Given the description of an element on the screen output the (x, y) to click on. 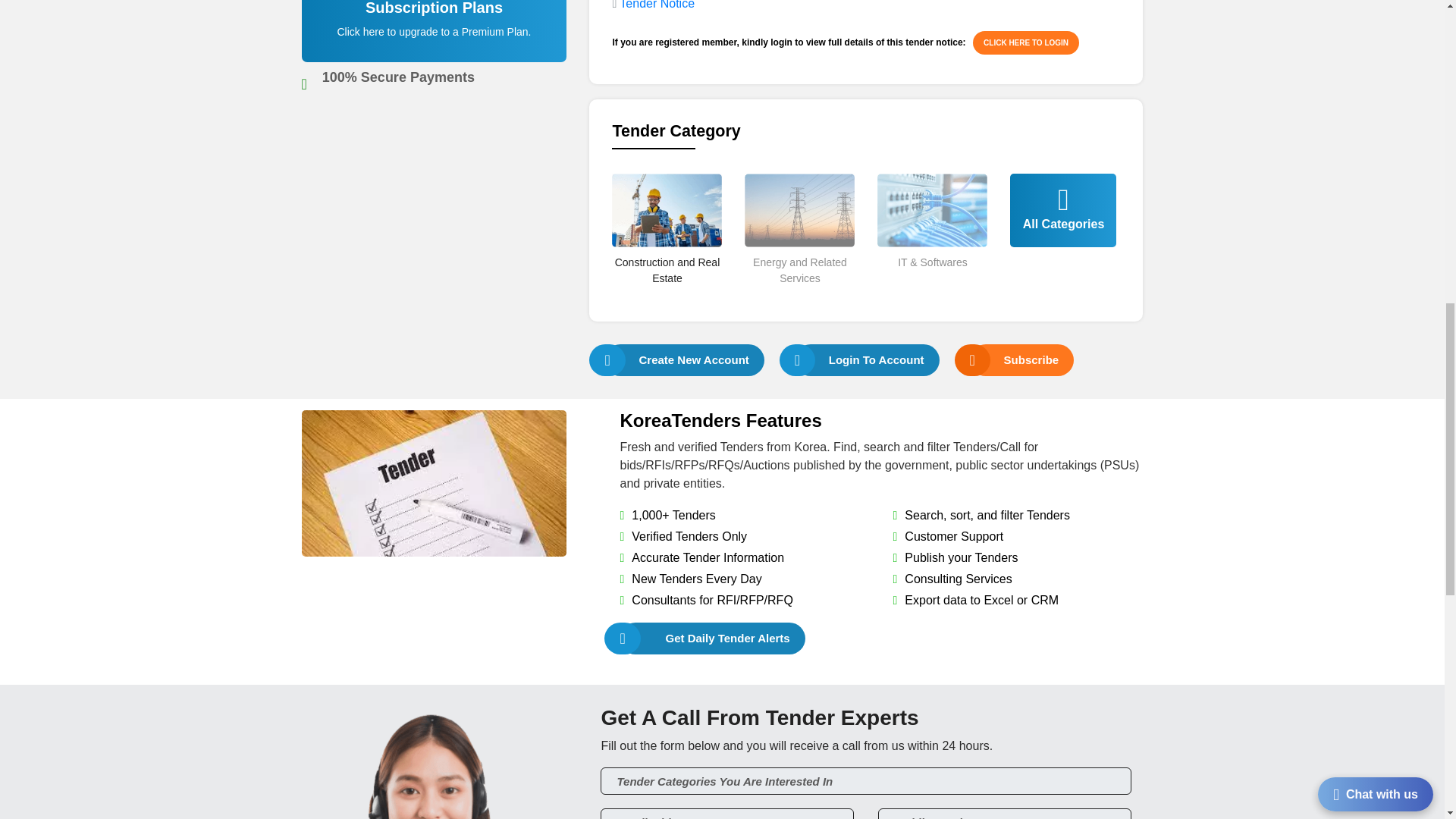
Get Daily Tender Alerts (712, 638)
Subscription Plans (434, 39)
All Categories (1062, 232)
Login To Account (866, 359)
CLICK HERE TO LOGIN (1025, 42)
Create New Account (684, 359)
Tender Notice (657, 4)
Click here to upgrade to a Premium Plan. (433, 31)
Construction and Real Estate (666, 296)
Energy and Related Services (799, 296)
